Given the description of an element on the screen output the (x, y) to click on. 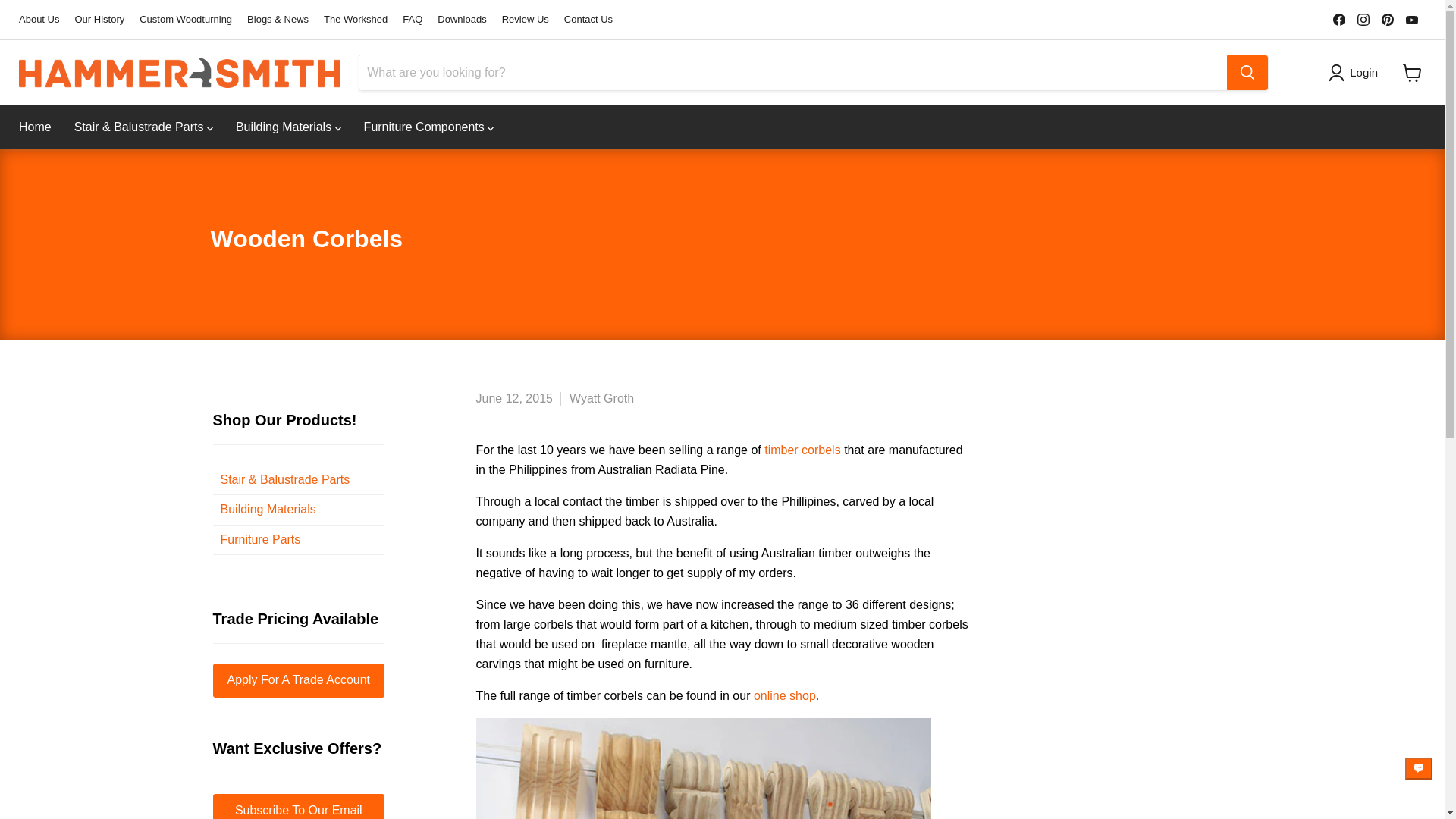
View cart (1411, 72)
Find us on Pinterest (1387, 19)
YouTube (1411, 19)
Custom Woodturning (185, 19)
Review Us (525, 19)
Find us on Instagram (1363, 19)
The Workshed (355, 19)
Instagram (1363, 19)
Login (1355, 72)
Our History (98, 19)
Pinterest (1387, 19)
About Us (38, 19)
Downloads (462, 19)
Facebook (1338, 19)
Find us on YouTube (1411, 19)
